Given the description of an element on the screen output the (x, y) to click on. 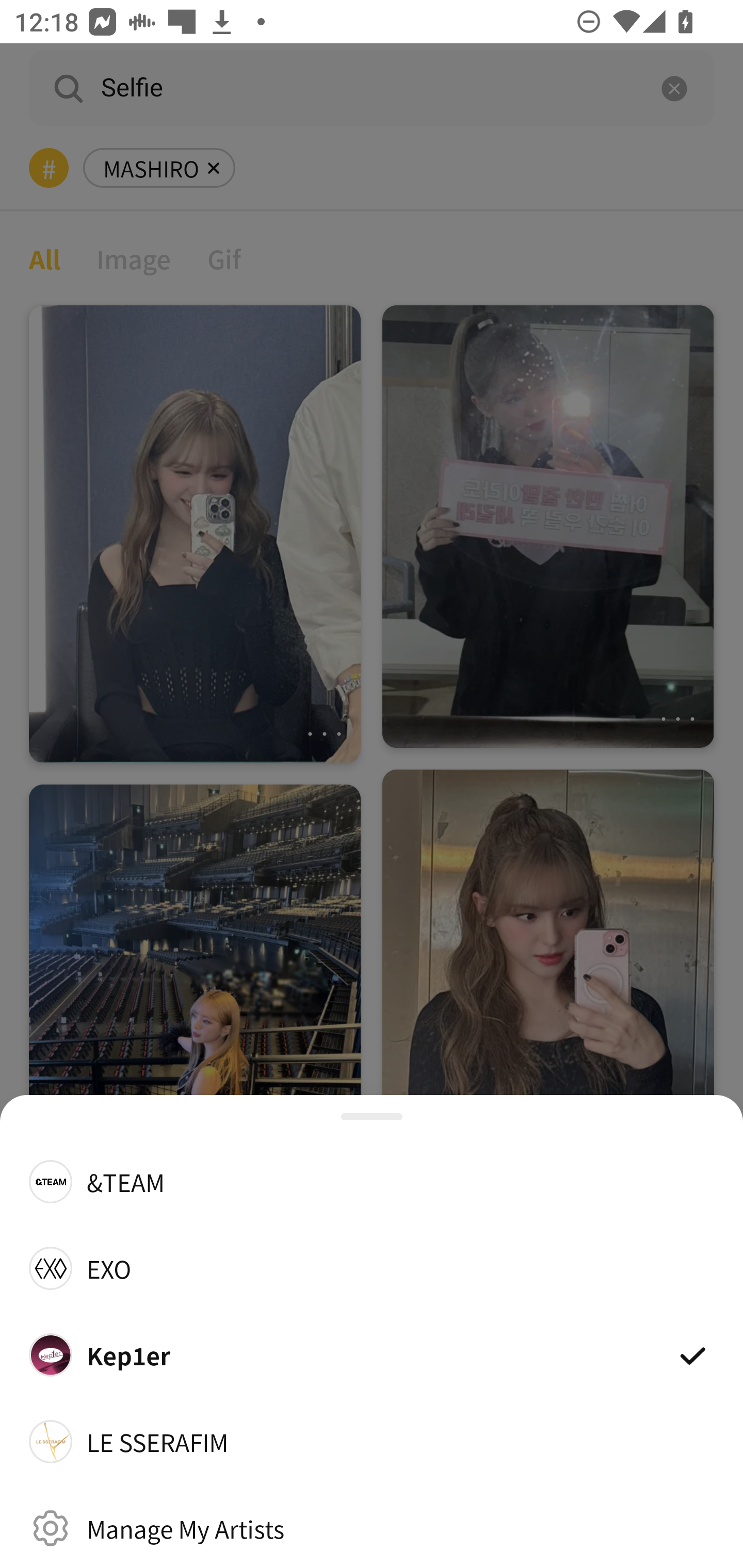
&TEAM (371, 1181)
EXO (371, 1268)
Kep1er (371, 1354)
LE SSERAFIM (371, 1441)
Manage My Artists (371, 1527)
